Given the description of an element on the screen output the (x, y) to click on. 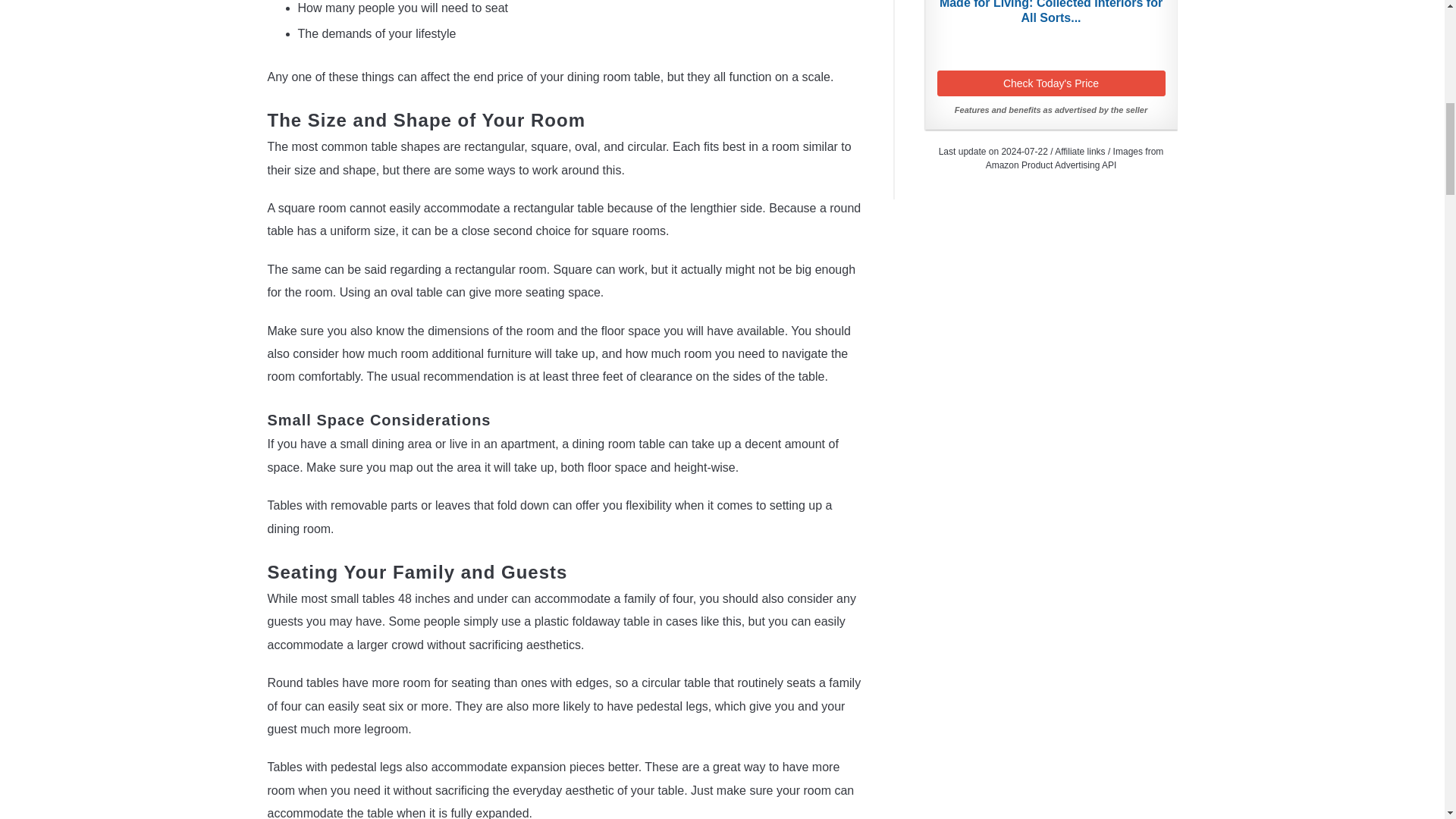
Made for Living: Collected Interiors for All Sorts of... (1051, 12)
Check Today's Price (1051, 83)
Made for Living: Collected Interiors for All Sorts... (1051, 12)
Check Today's Price (1051, 83)
